Given the description of an element on the screen output the (x, y) to click on. 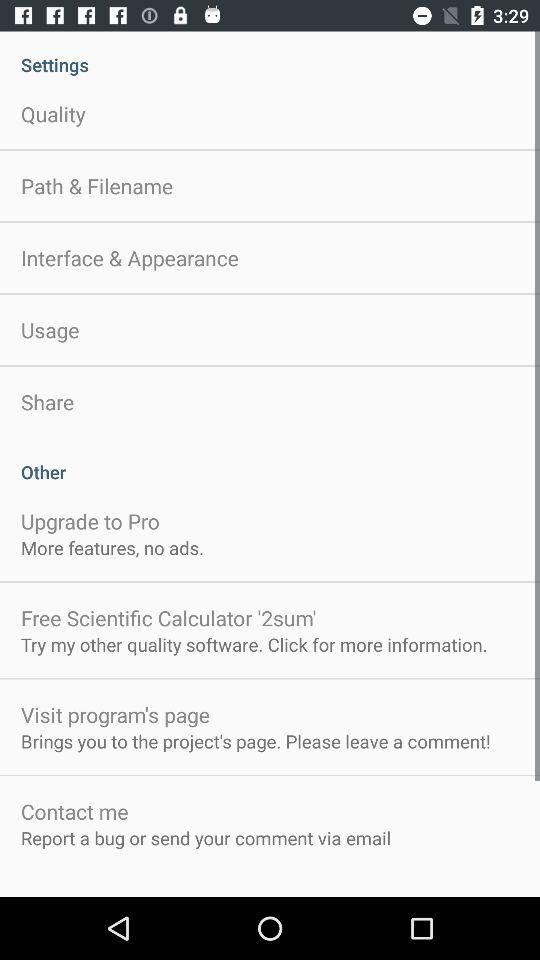
press settings item (270, 54)
